Given the description of an element on the screen output the (x, y) to click on. 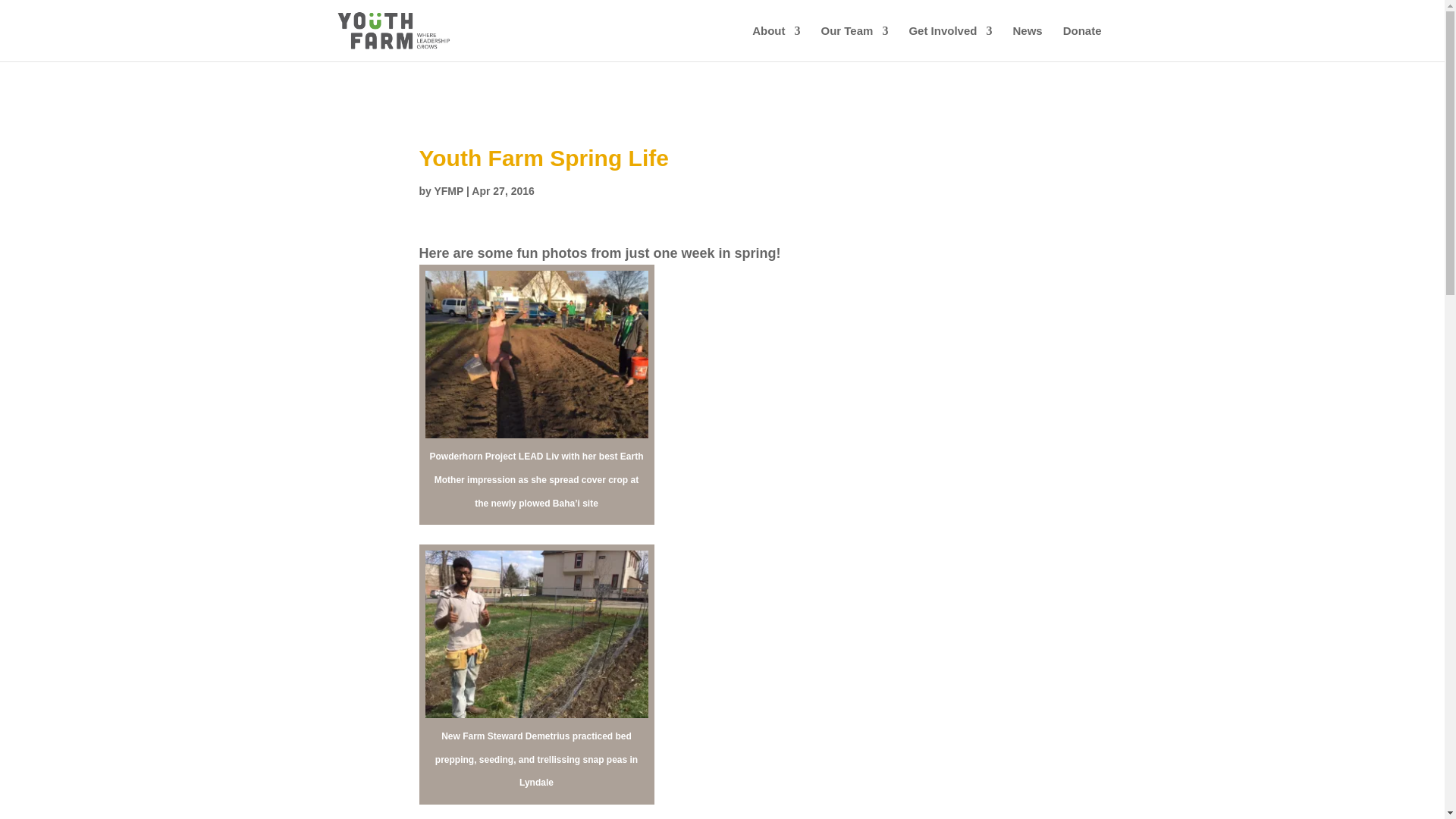
About (775, 43)
YFMP (448, 191)
Donate (1082, 43)
Posts by YFMP (448, 191)
Get Involved (949, 43)
Our Team (854, 43)
News (1026, 43)
Learn more here! (884, 18)
